Given the description of an element on the screen output the (x, y) to click on. 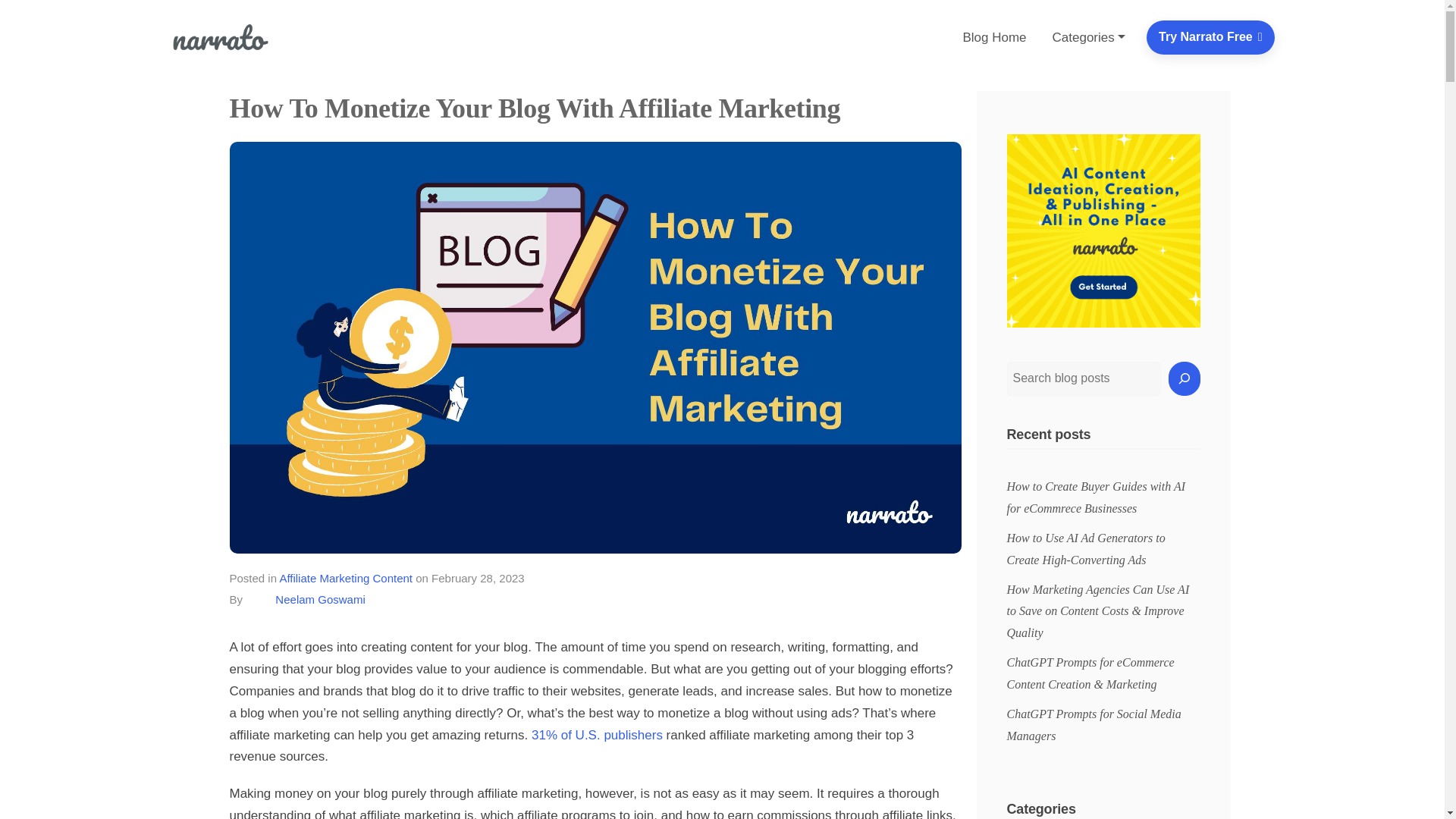
Posts by Neelam Goswami (320, 599)
Blog Home (999, 37)
Try Narrato Free (1210, 37)
Categories (1089, 37)
Affiliate Marketing Content (345, 577)
Neelam Goswami (320, 599)
